Given the description of an element on the screen output the (x, y) to click on. 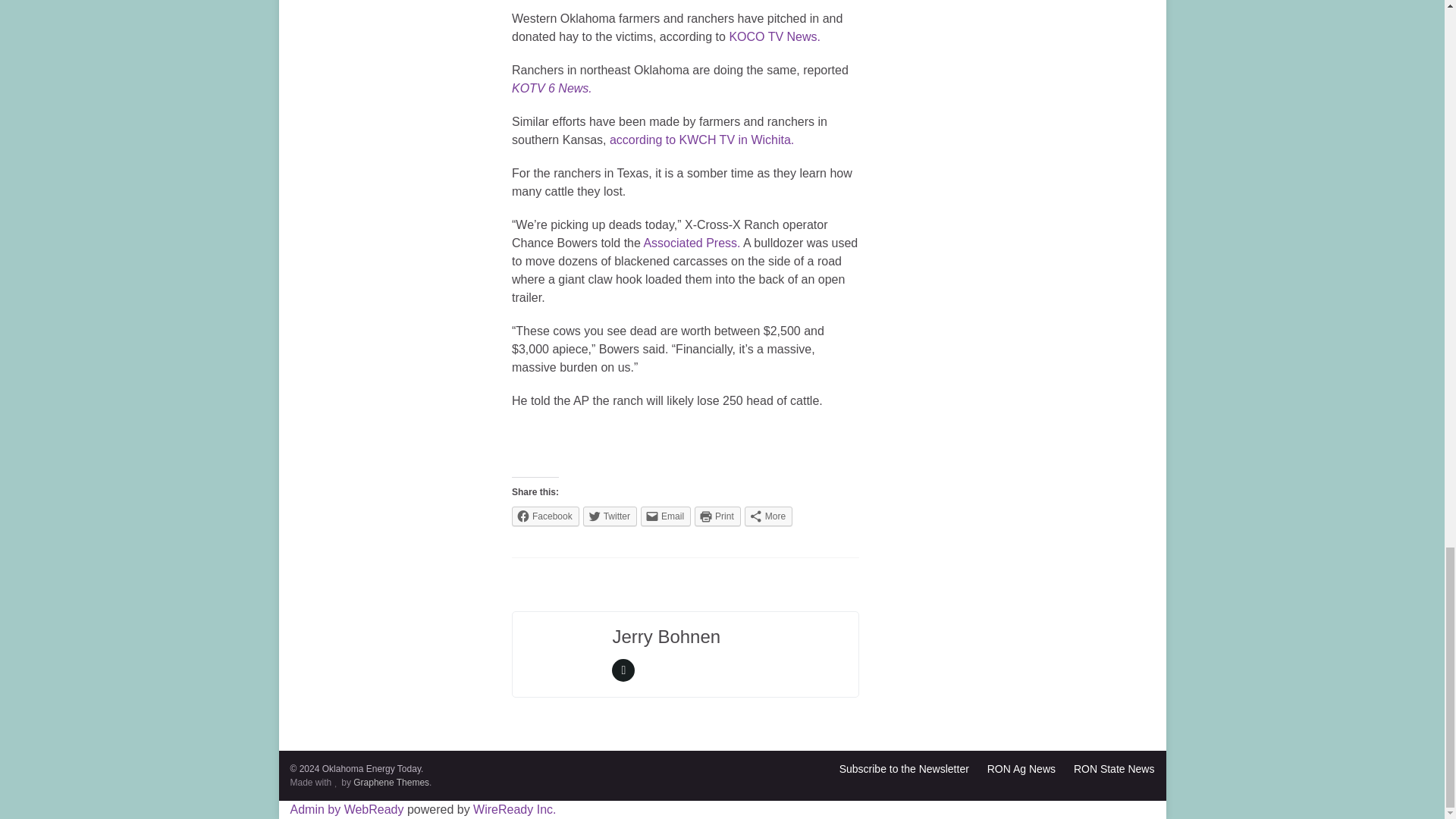
RON Ag News (1021, 768)
Associated Press. (691, 242)
WireReady Inc. (514, 809)
according to KWCH TV in Wichita. (701, 139)
KOCO TV News. (775, 36)
Print (717, 516)
Click to print (717, 516)
Email (665, 516)
Click to share on Twitter (610, 516)
Facebook (545, 516)
KOTV 6 News. (552, 88)
Twitter (610, 516)
Click to email a link to a friend (665, 516)
Click to share on Facebook (545, 516)
Subscribe to the Newsletter (904, 768)
